Given the description of an element on the screen output the (x, y) to click on. 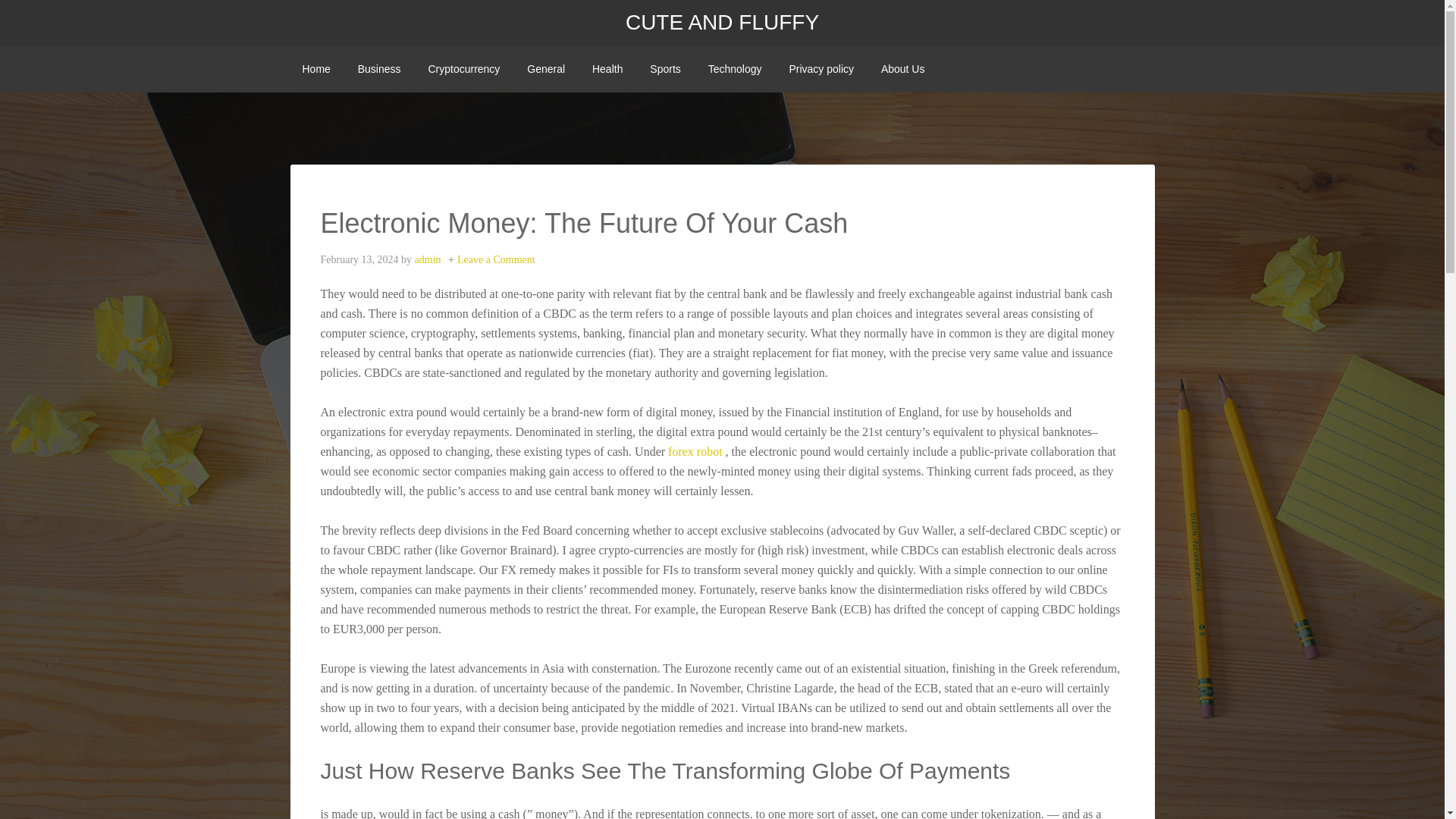
About Us (903, 68)
Health (606, 68)
Home (315, 68)
CUTE AND FLUFFY (722, 22)
Privacy policy (821, 68)
Leave a Comment (496, 259)
General (545, 68)
admin (427, 259)
Cryptocurrency (463, 68)
forex robot (695, 451)
Technology (734, 68)
Business (379, 68)
Sports (665, 68)
